Given the description of an element on the screen output the (x, y) to click on. 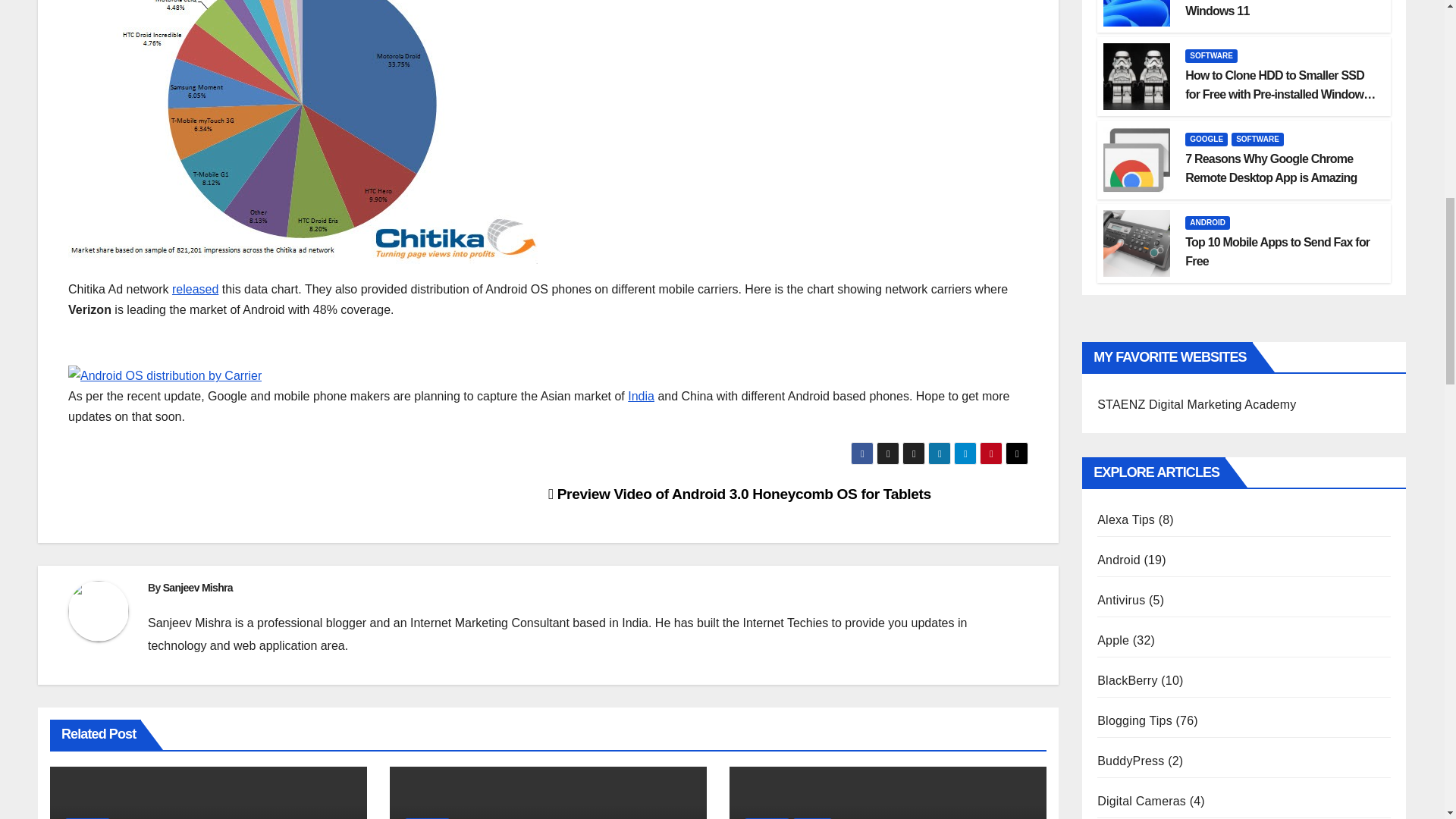
released (194, 288)
Preview Video of Android 3.0 Honeycomb OS for Tablets (739, 494)
India (640, 395)
Android OS distribution by Carrier (165, 375)
Android OS distribution by handset (302, 131)
